Given the description of an element on the screen output the (x, y) to click on. 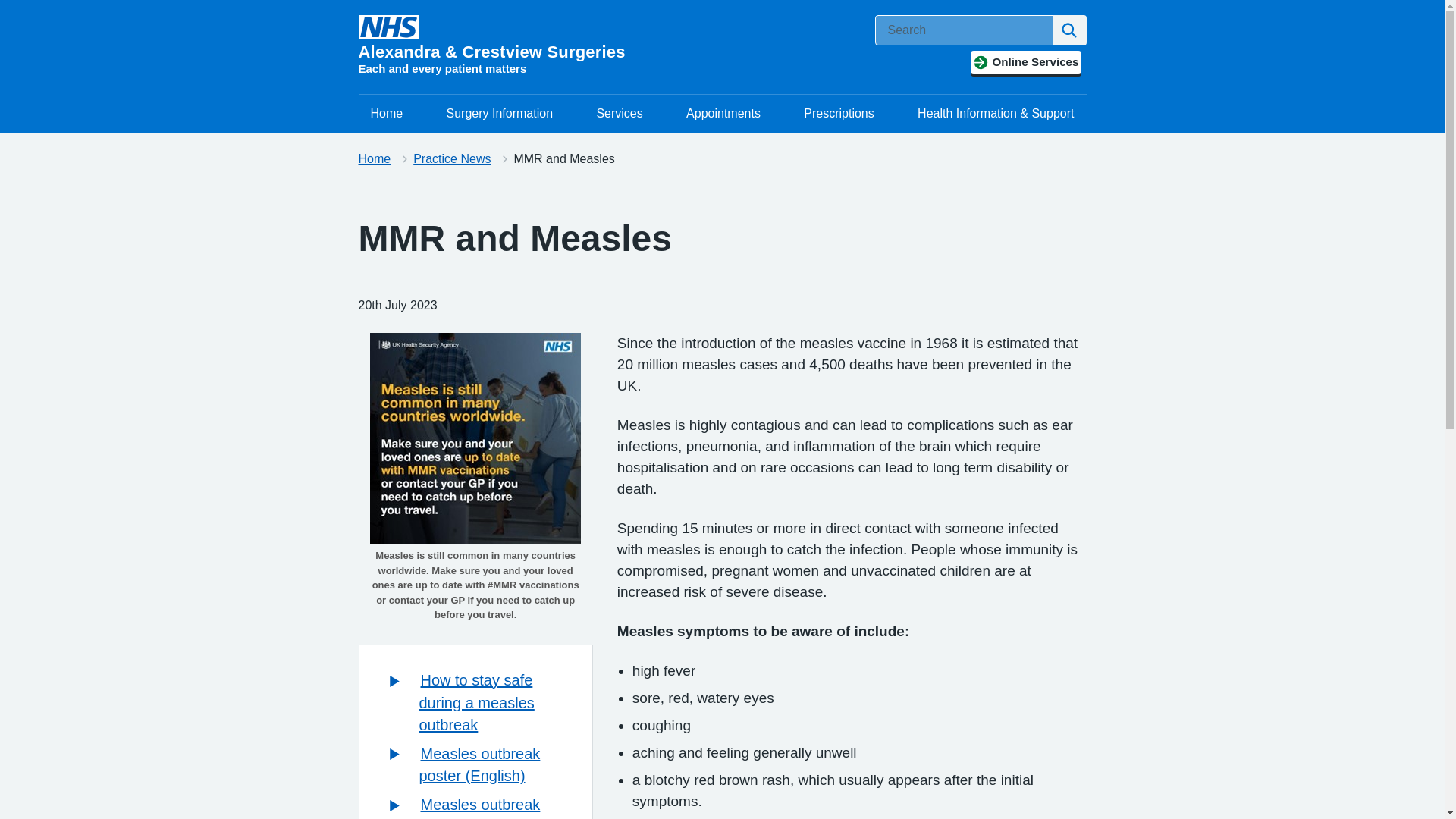
Online Services (1025, 61)
Surgery Information (499, 113)
Prescriptions (838, 113)
Search (1069, 30)
NHS Logo (388, 27)
Appointments (723, 113)
Home (386, 113)
Home (374, 158)
Services (618, 113)
Practice News (451, 158)
How to stay safe during a measles outbreak (476, 702)
